Given the description of an element on the screen output the (x, y) to click on. 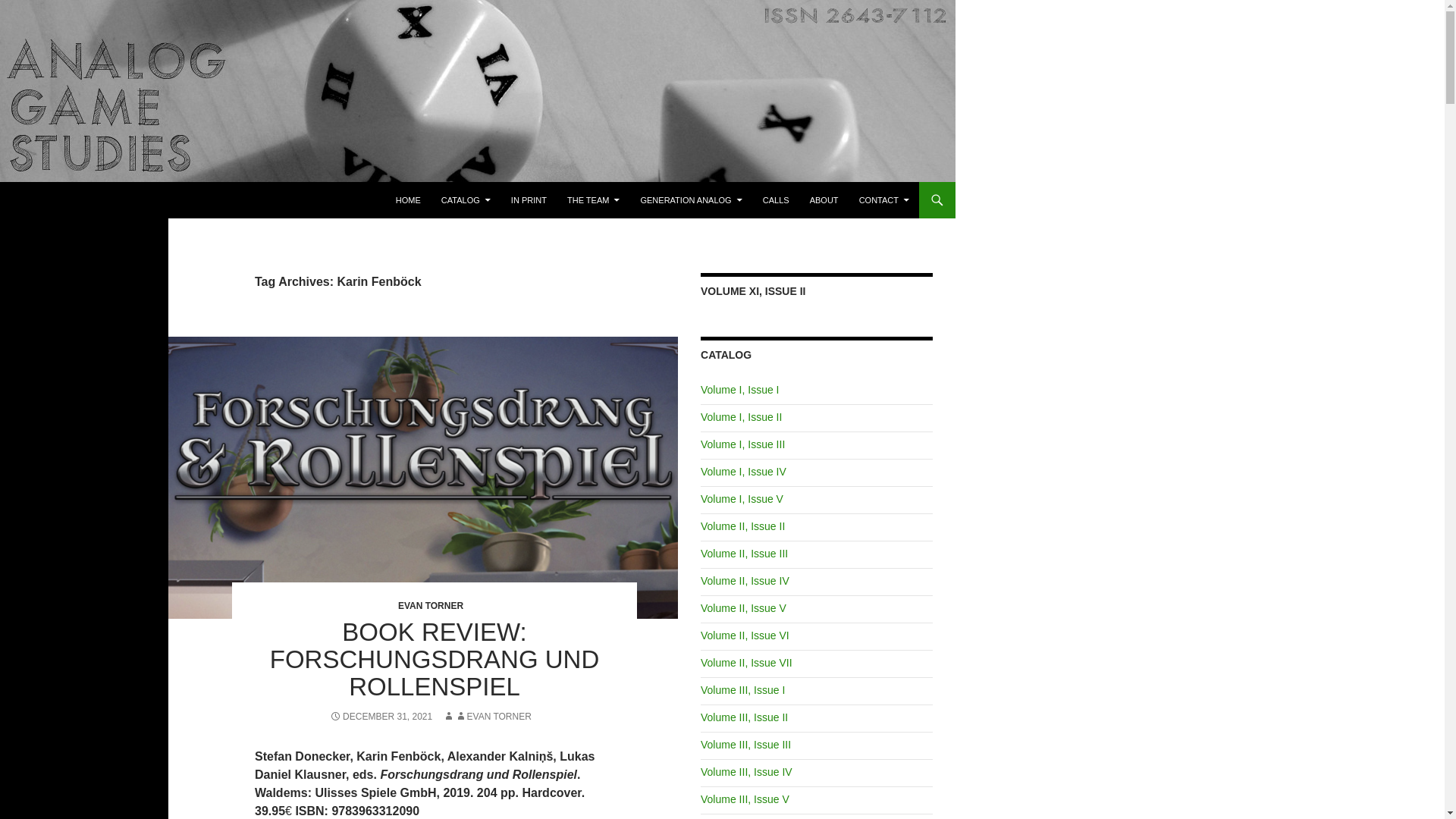
Volume II, Issue III (743, 553)
CATALOG (465, 199)
Analog Game Studies (93, 199)
Volume II, Issue VI (744, 635)
Volume III, Issue I (742, 689)
Volume I, Issue II (740, 417)
Volume III, Issue III (745, 744)
Volume I, Issue I (739, 389)
Volume III, Issue IV (746, 771)
